Given the description of an element on the screen output the (x, y) to click on. 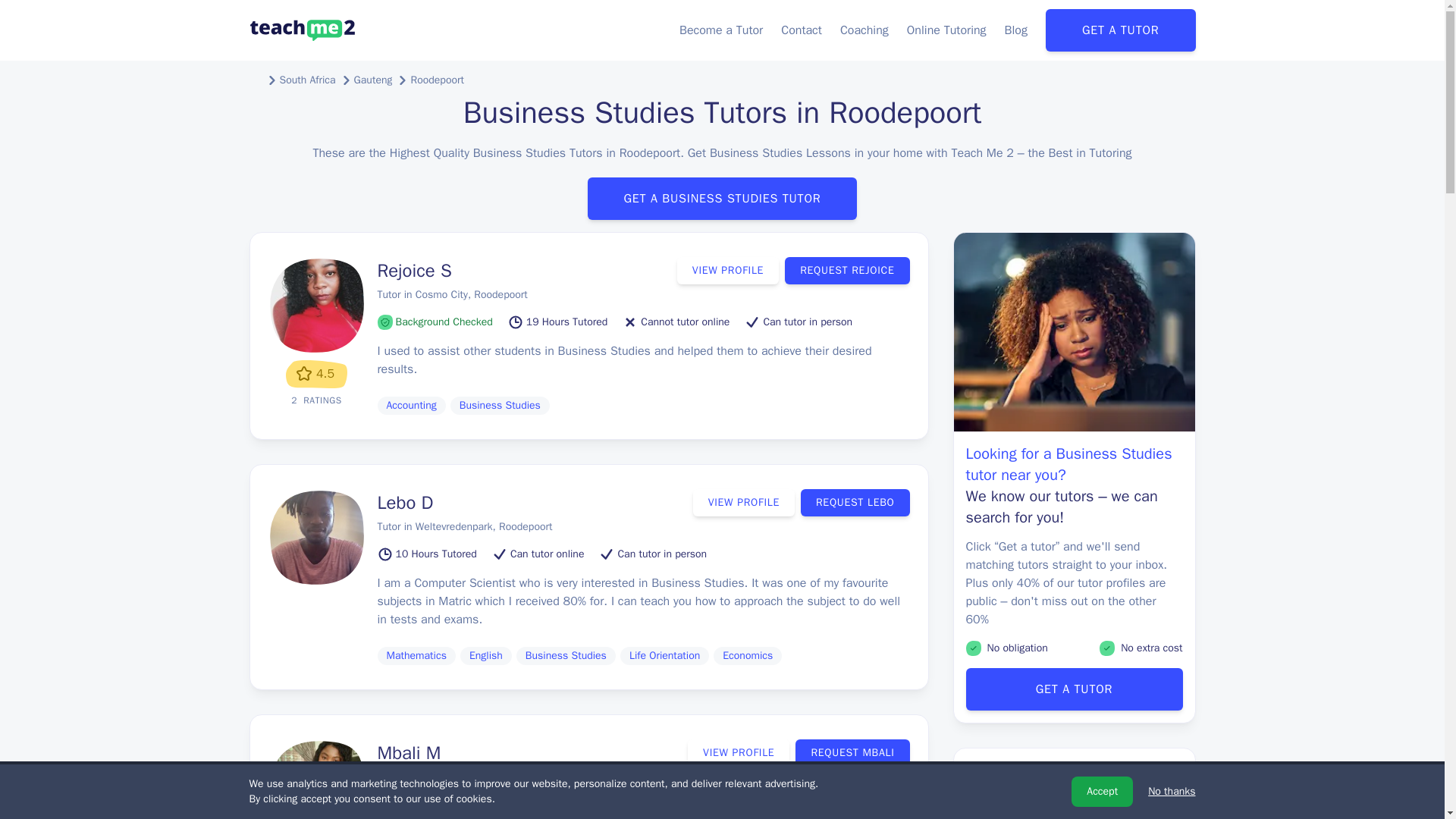
VIEW PROFILE (738, 752)
Rejoice S (414, 270)
GET A TUTOR (1120, 30)
Jump to the front page (301, 29)
REQUEST REJOICE (846, 270)
Contact (801, 29)
Coaching (864, 29)
VIEW PROFILE (743, 502)
VIEW PROFILE (727, 270)
Mbali M (409, 753)
